Given the description of an element on the screen output the (x, y) to click on. 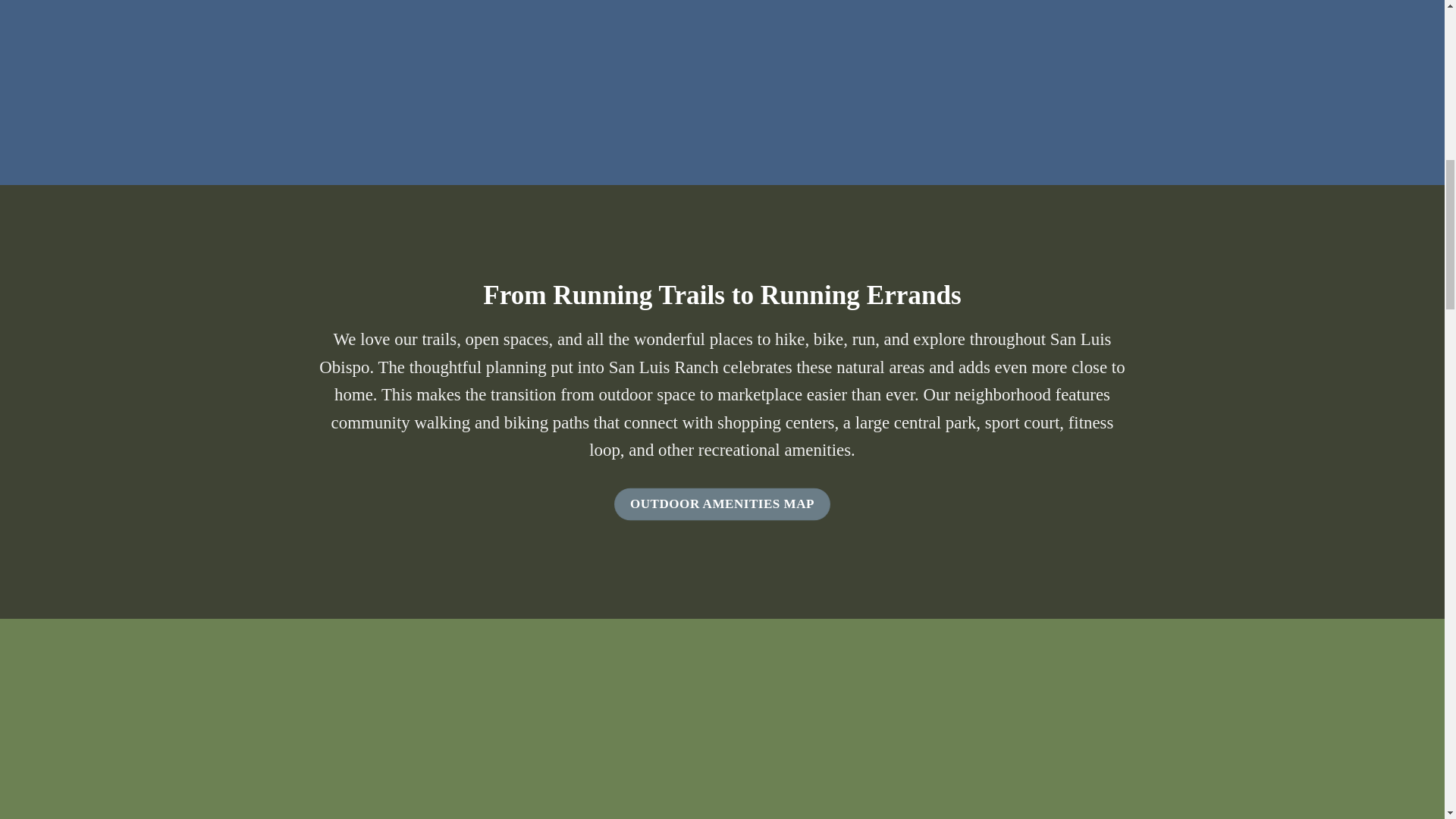
OUTDOOR AMENITIES MAP (722, 504)
